Given the description of an element on the screen output the (x, y) to click on. 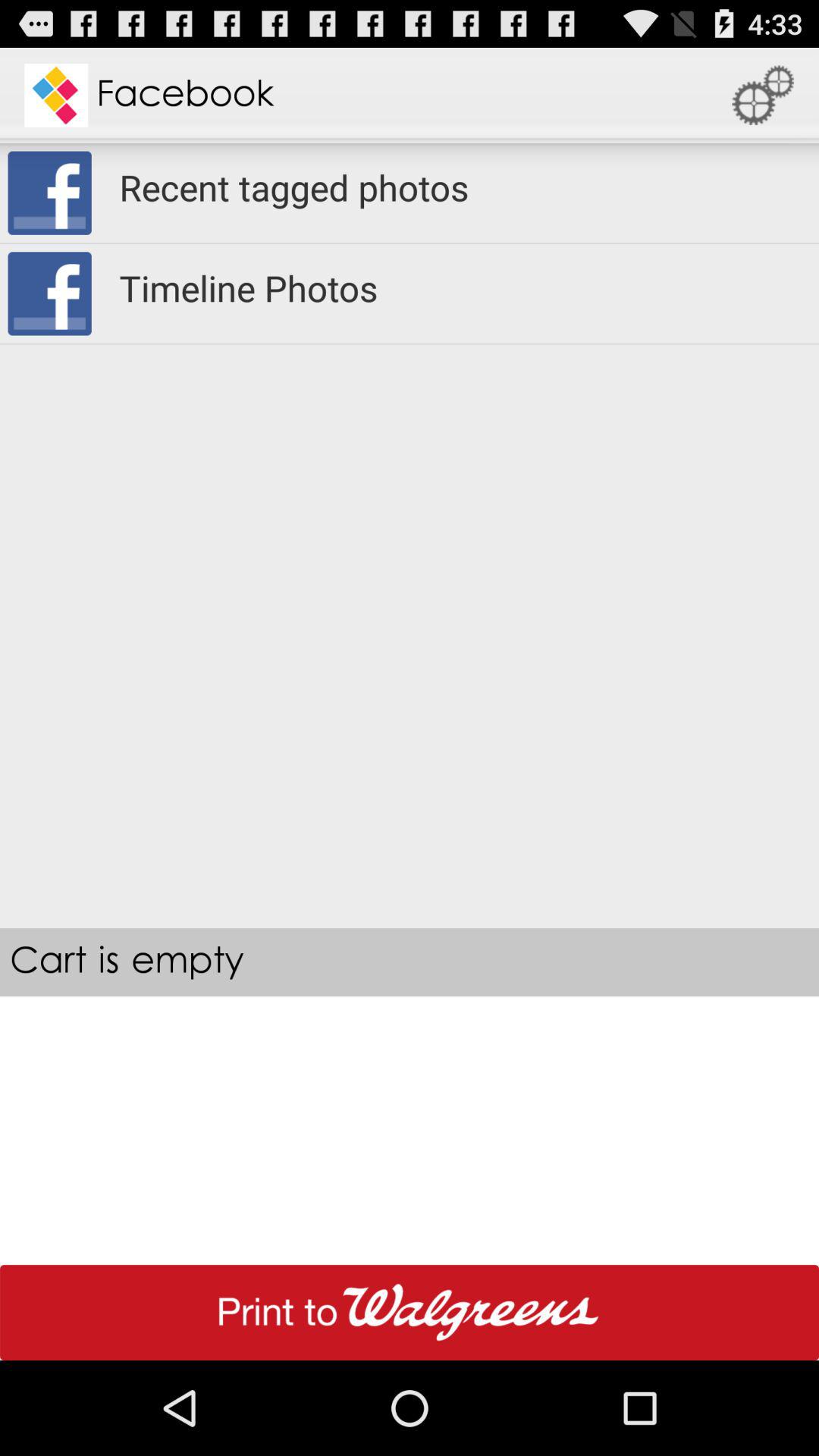
tap item above cart is empty icon (459, 287)
